Given the description of an element on the screen output the (x, y) to click on. 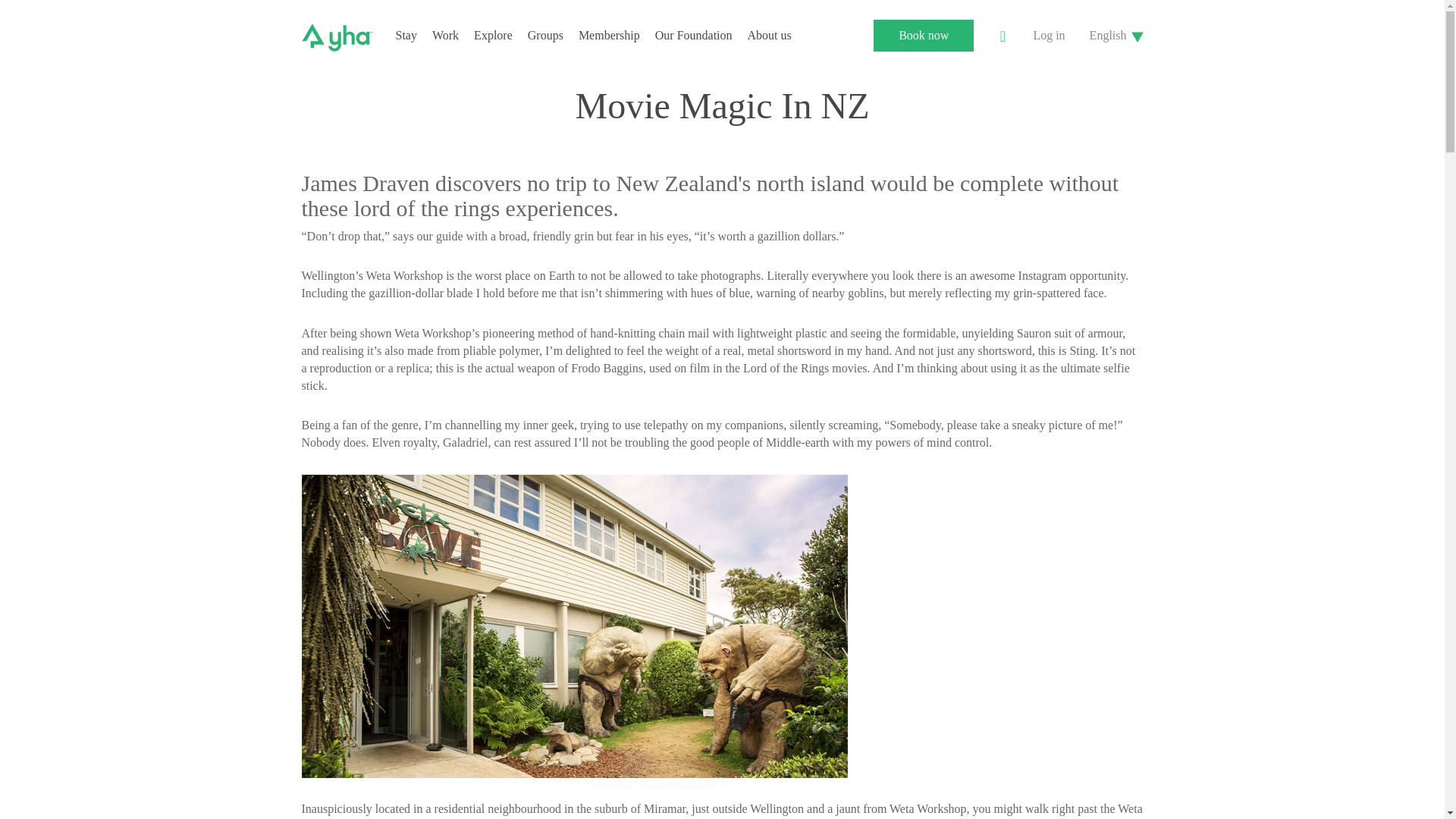
Explore (493, 34)
YHA Australia logo with text (336, 37)
Work (445, 34)
Stay (406, 34)
